Given the description of an element on the screen output the (x, y) to click on. 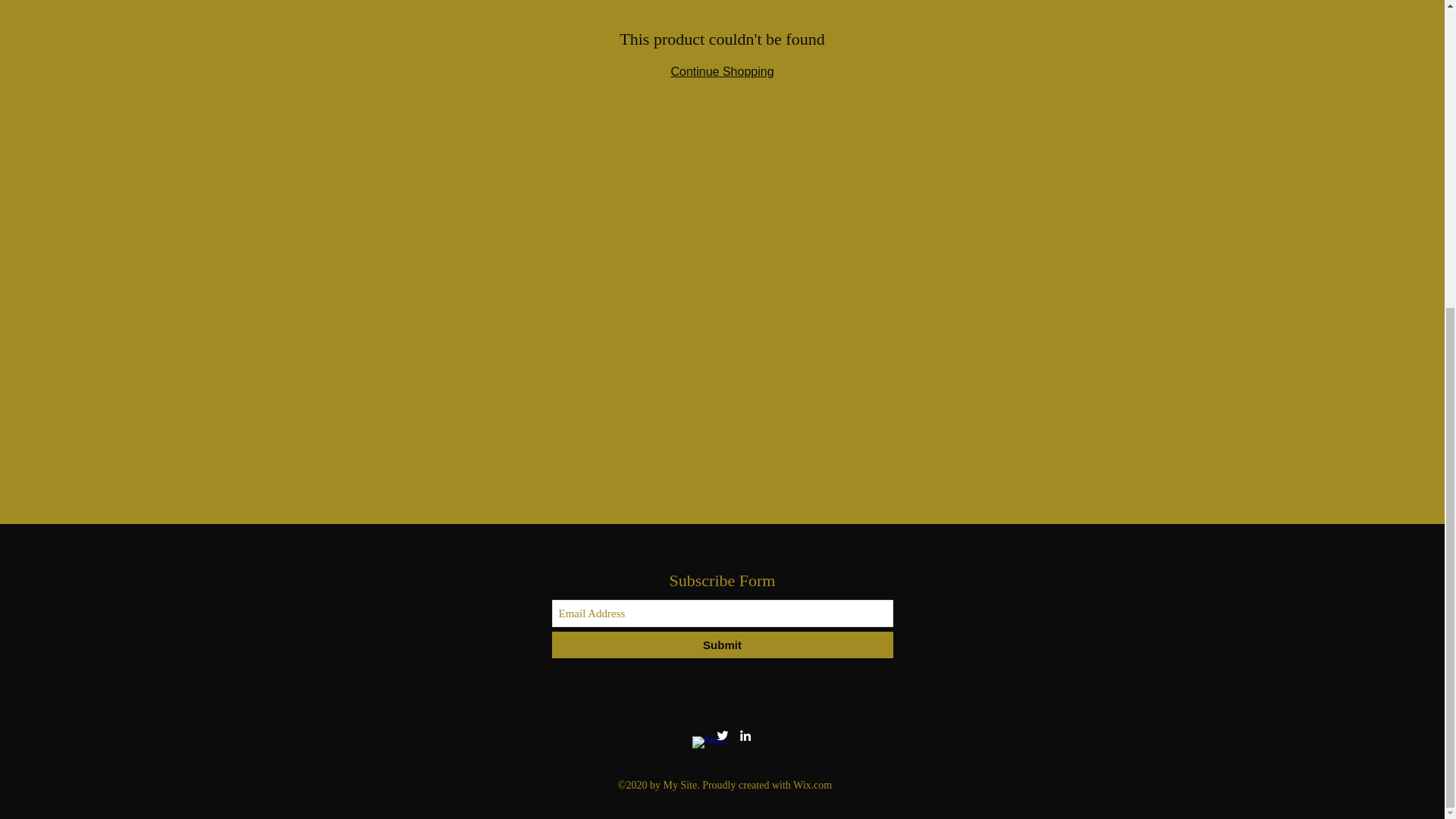
Continue Shopping (721, 71)
Submit (722, 644)
